Given the description of an element on the screen output the (x, y) to click on. 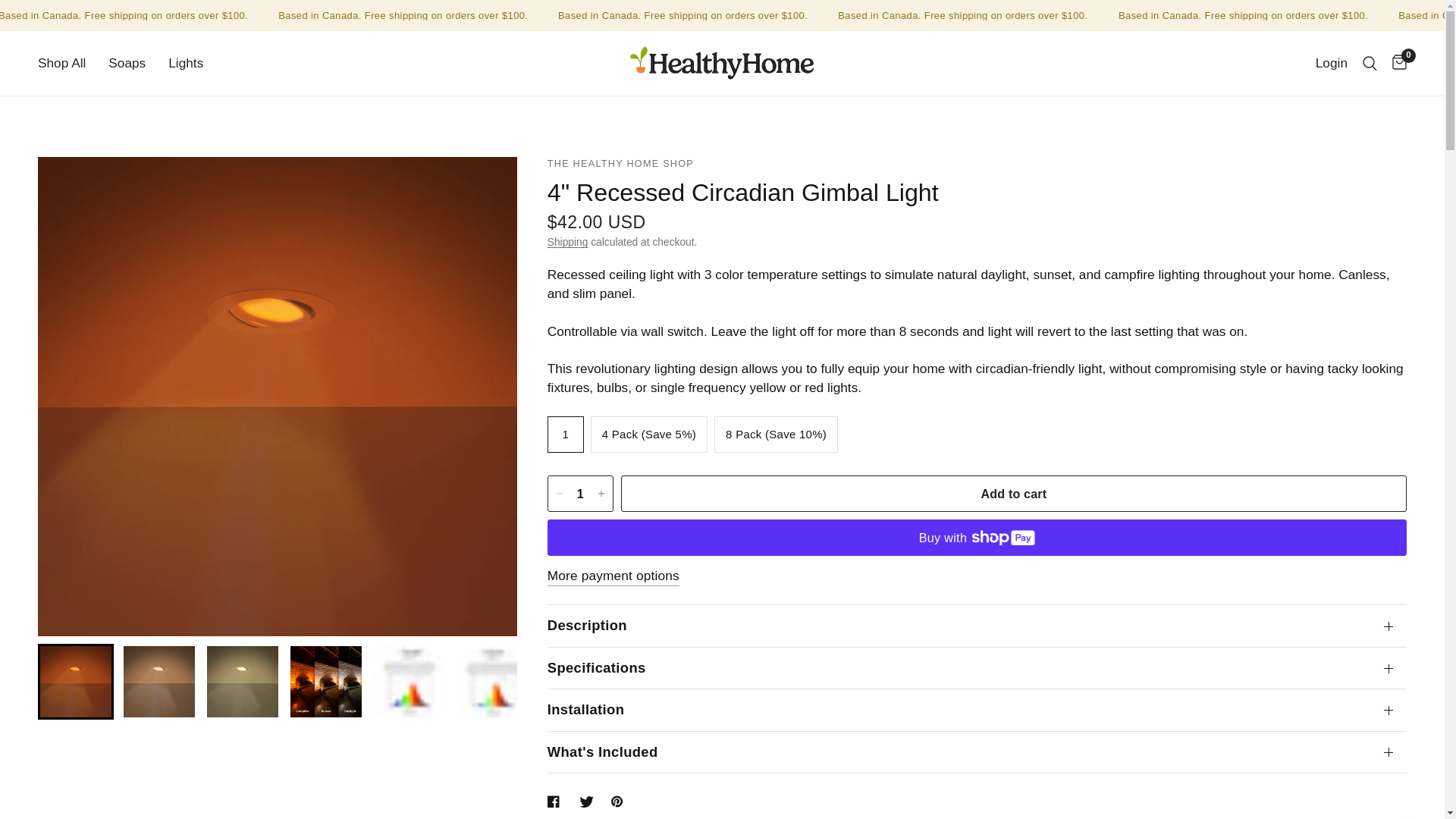
Add to cart (1013, 493)
Shipping (567, 242)
Soaps (126, 63)
Lights (185, 63)
More payment options (613, 575)
Shop All (61, 63)
Shop All (61, 63)
Soaps (126, 63)
Lights (185, 63)
